Given the description of an element on the screen output the (x, y) to click on. 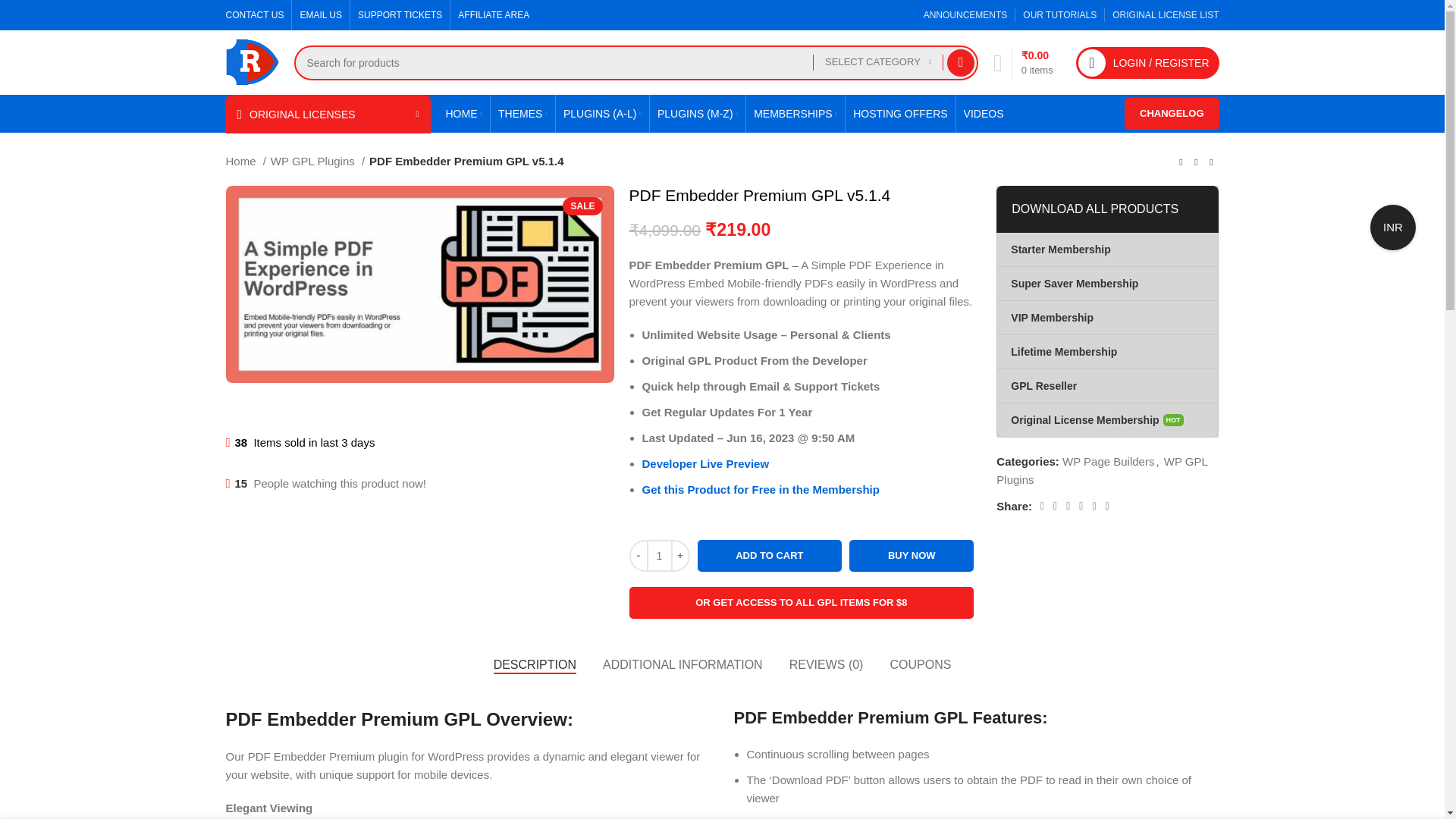
OUR TUTORIALS (1059, 14)
Search for products (636, 62)
SELECT CATEGORY (877, 62)
My account (1147, 61)
SELECT CATEGORY (877, 62)
ORIGINAL LICENSE LIST (1165, 14)
ANNOUNCEMENTS (965, 14)
Shopping cart (1023, 61)
CONTACT US (254, 15)
AFFILIATE AREA (493, 15)
SUPPORT TICKETS (400, 15)
EMAIL US (320, 15)
